Given the description of an element on the screen output the (x, y) to click on. 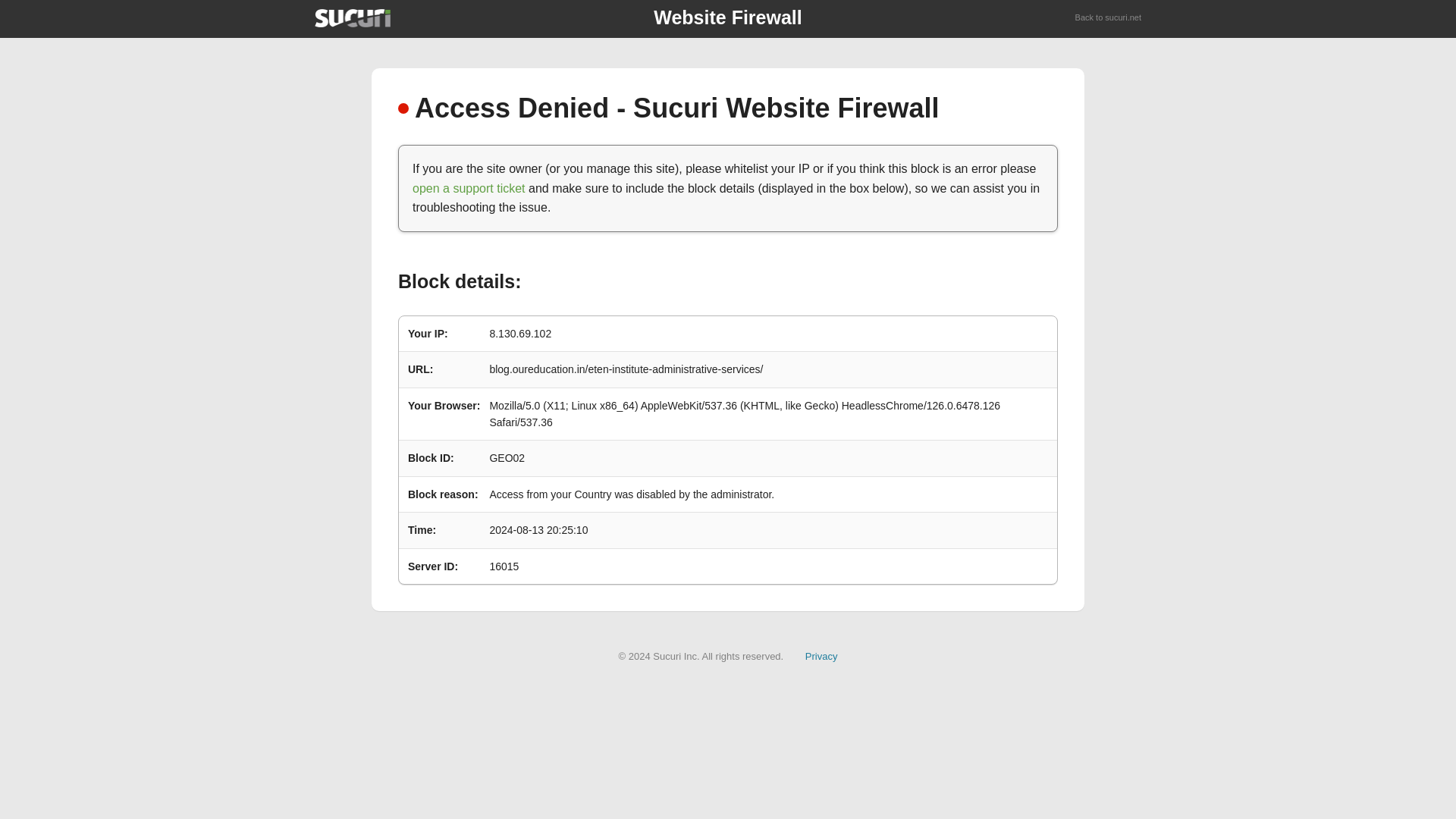
Privacy (821, 655)
Back to sucuri.net (1108, 18)
open a support ticket (468, 187)
